Given the description of an element on the screen output the (x, y) to click on. 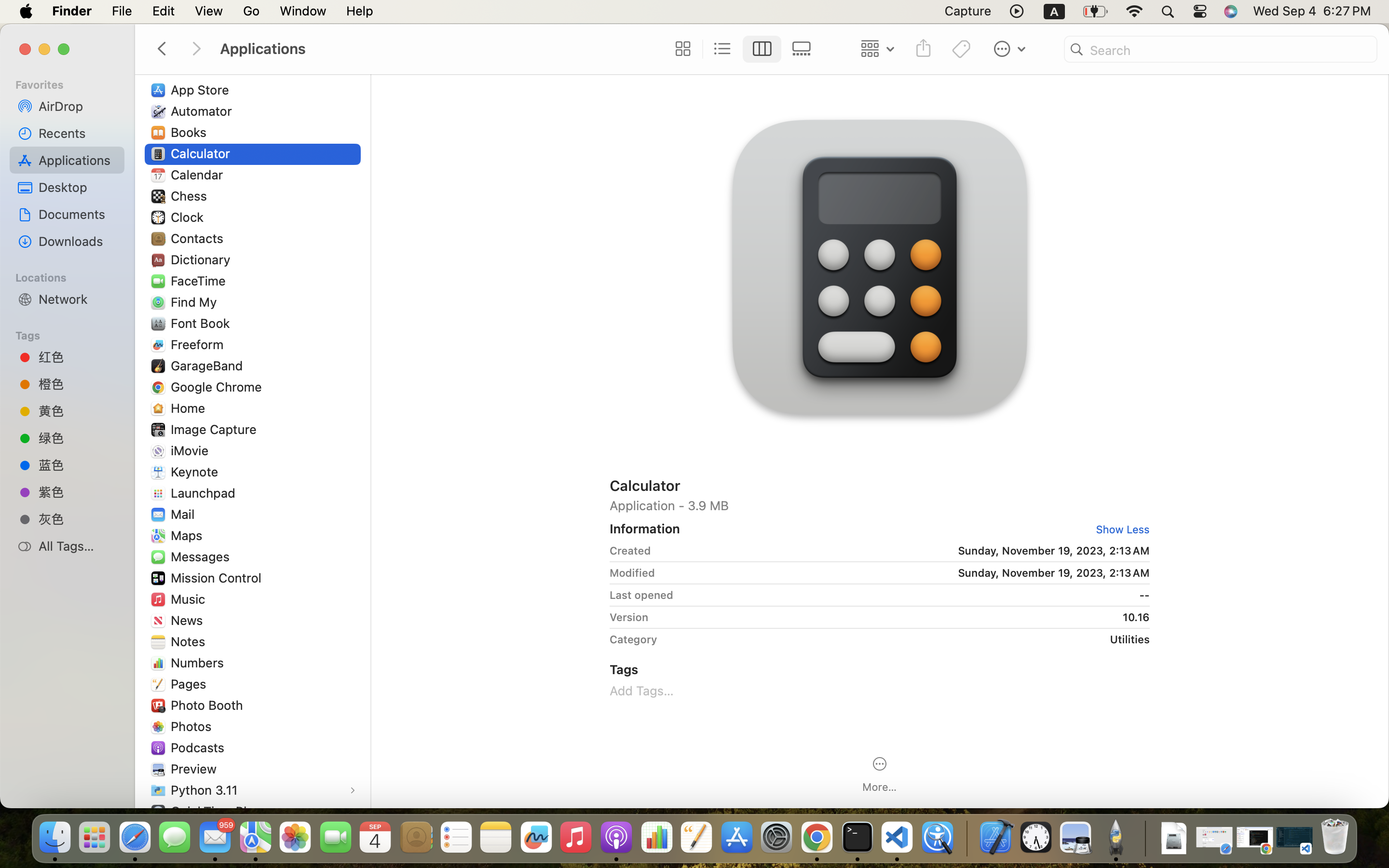
蓝色 Element type: AXStaticText (77, 464)
Sunday, November 19, 2023, 2:13 AM Element type: AXStaticText (903, 550)
<AXUIElement 0x141e8d910> {pid=510} Element type: AXRadioGroup (741, 48)
Network Element type: AXStaticText (77, 298)
-- Element type: AXStaticText (914, 594)
